Given the description of an element on the screen output the (x, y) to click on. 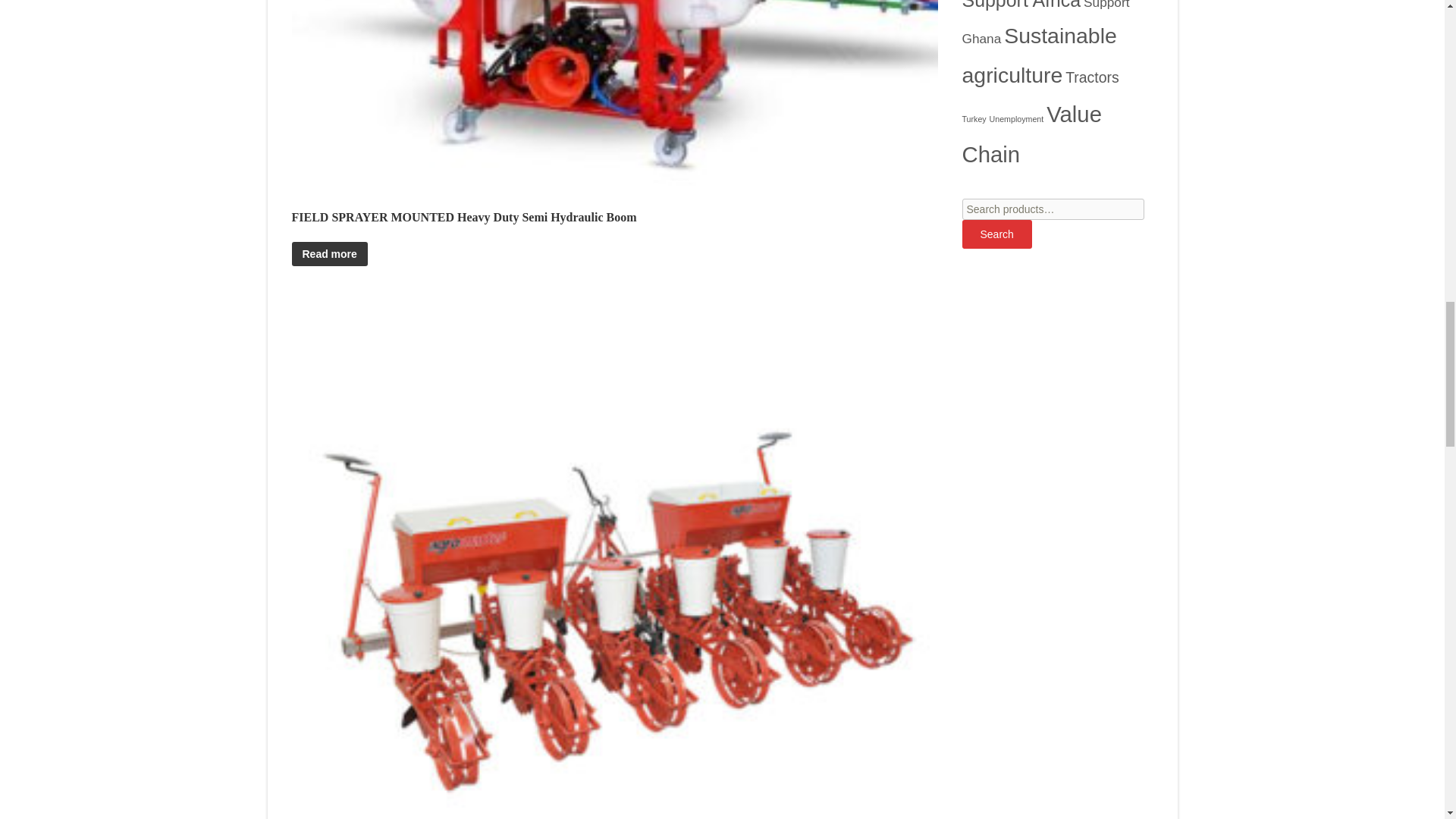
Read more (328, 253)
